Given the description of an element on the screen output the (x, y) to click on. 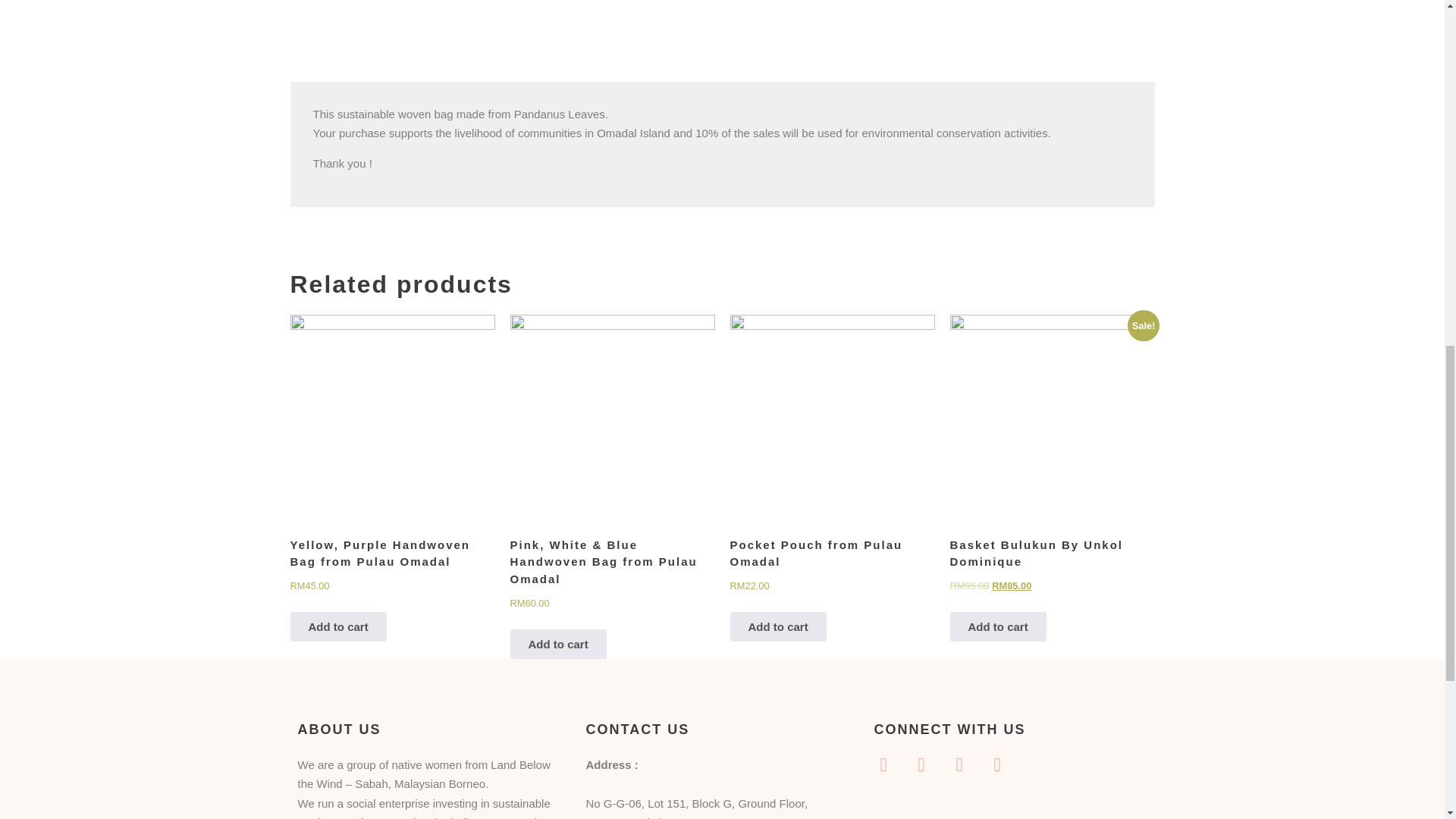
Add to cart (337, 626)
Add to cart (557, 644)
Add to cart (997, 626)
Add to cart (777, 626)
